Given the description of an element on the screen output the (x, y) to click on. 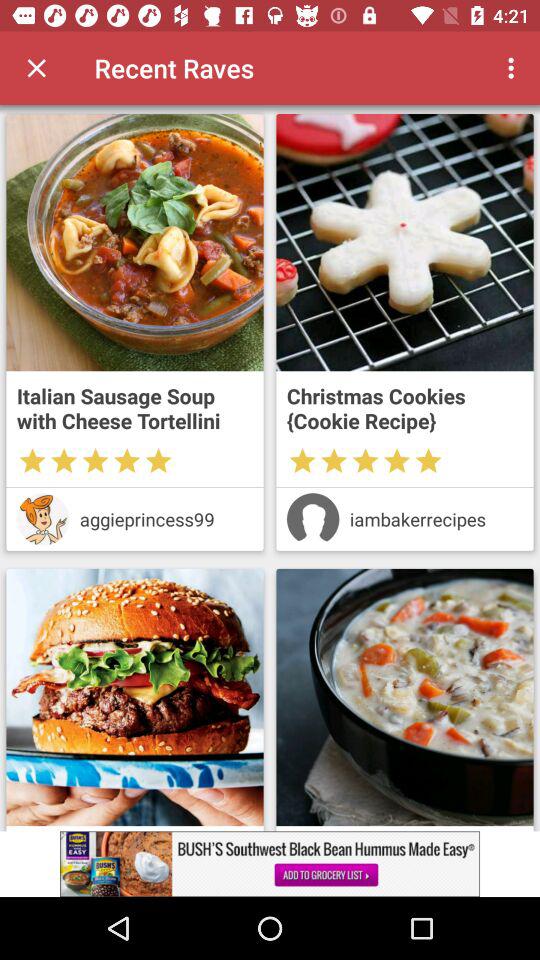
select for recipe details (404, 697)
